Given the description of an element on the screen output the (x, y) to click on. 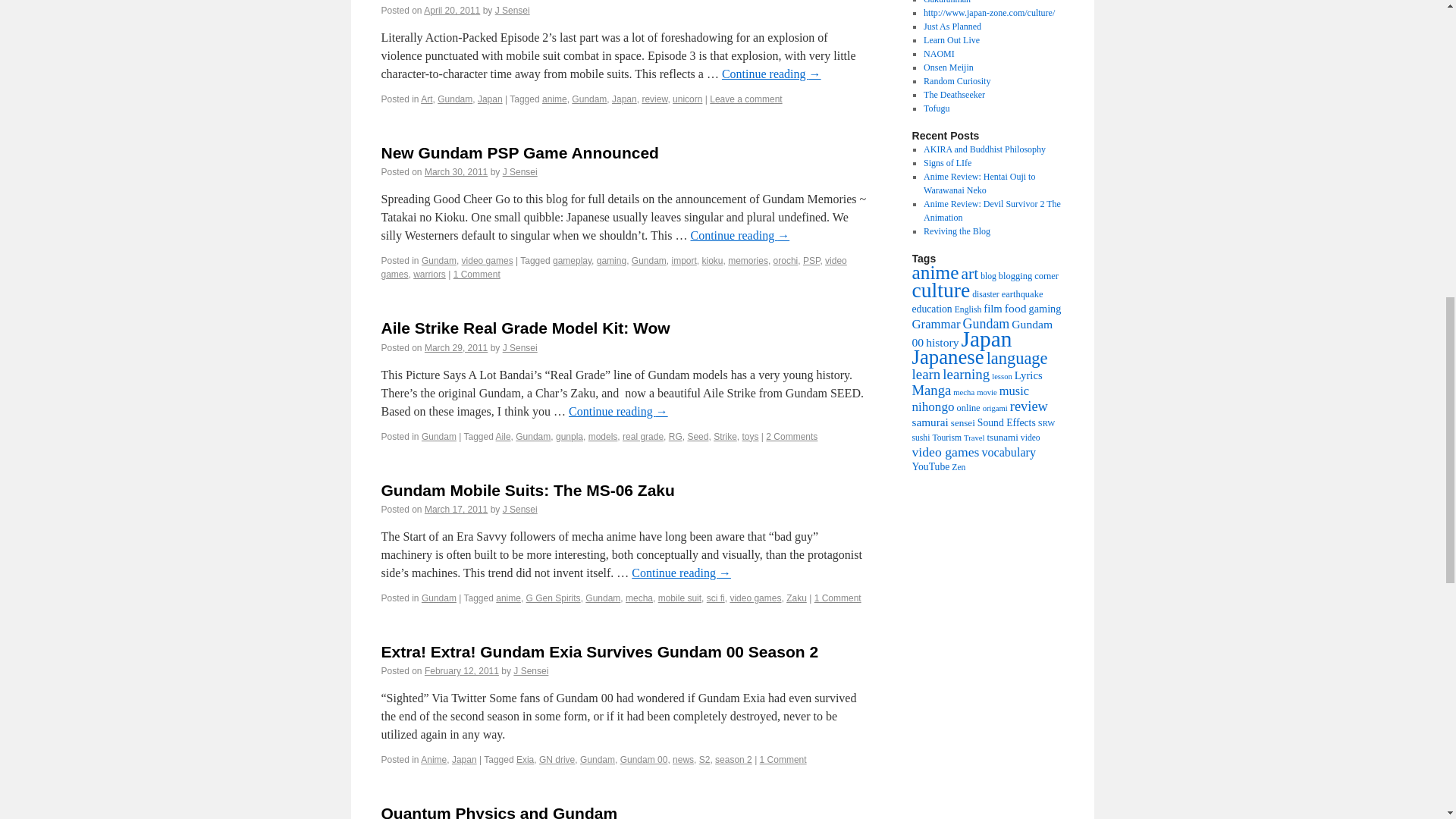
View all posts by J Sensei (519, 172)
2:50 am (451, 9)
Permalink to New Gundam PSP Game Announced (519, 152)
View all posts by J Sensei (512, 9)
2:05 pm (456, 172)
